Given the description of an element on the screen output the (x, y) to click on. 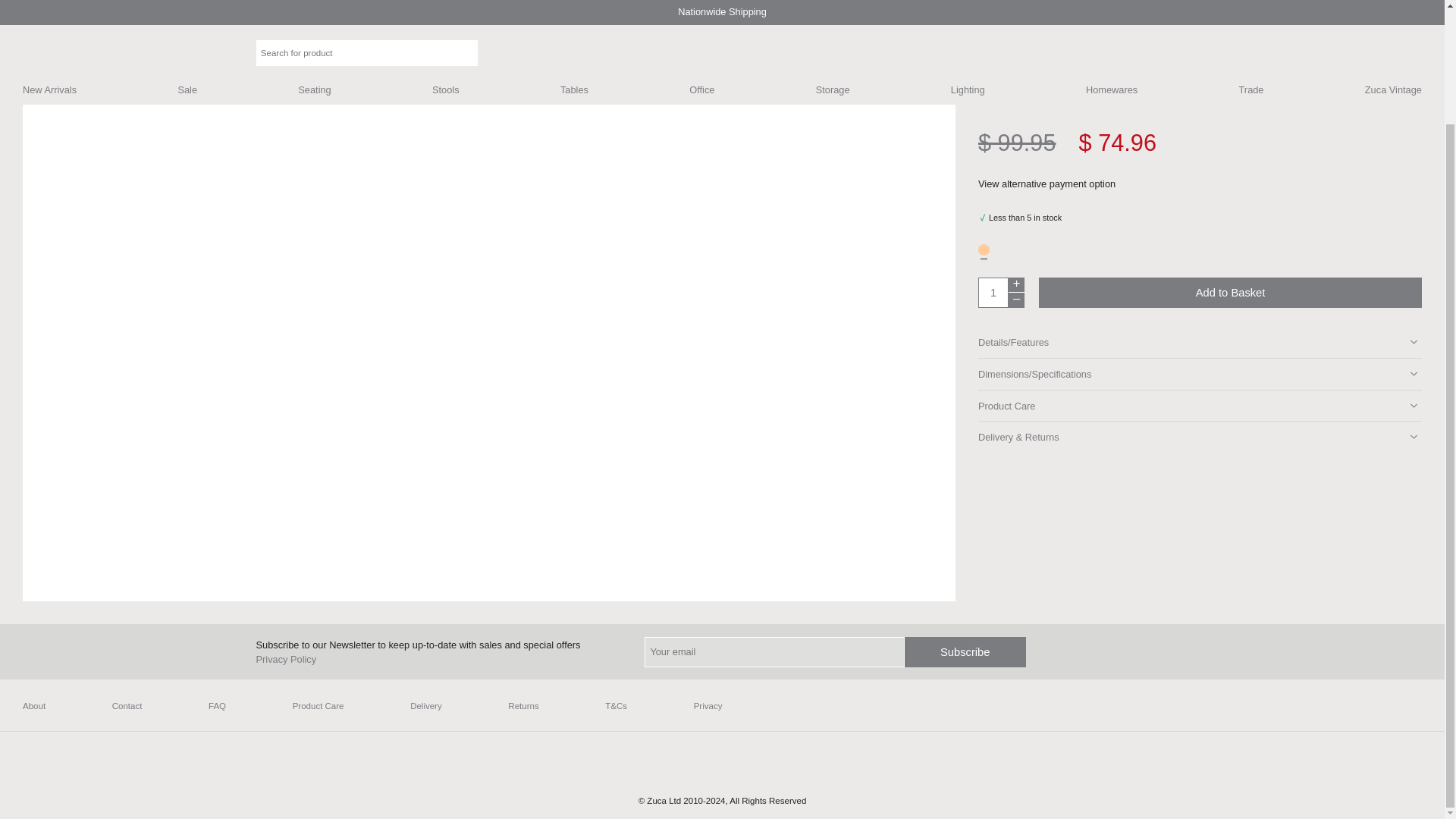
Contact (127, 706)
Subscribe (965, 652)
Privacy (708, 706)
Privacy Policy (286, 659)
Product Care (317, 706)
Returns (523, 706)
FAQ (216, 706)
Add to Basket (1230, 292)
Delivery (426, 706)
View alternative payment option (1057, 184)
